Given the description of an element on the screen output the (x, y) to click on. 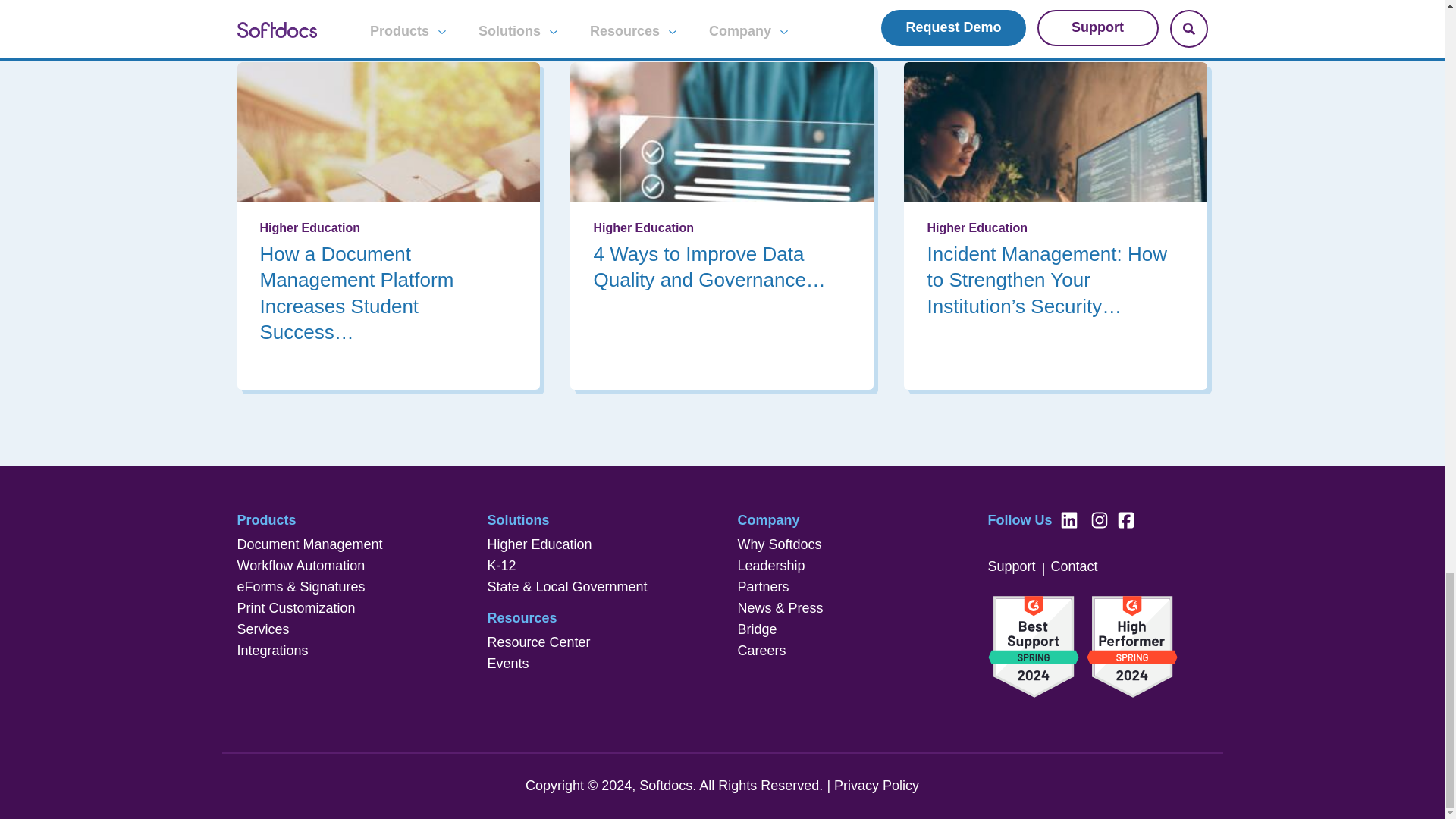
Facebook (1127, 522)
LinkedIn (1071, 522)
Instagram (1101, 522)
